Given the description of an element on the screen output the (x, y) to click on. 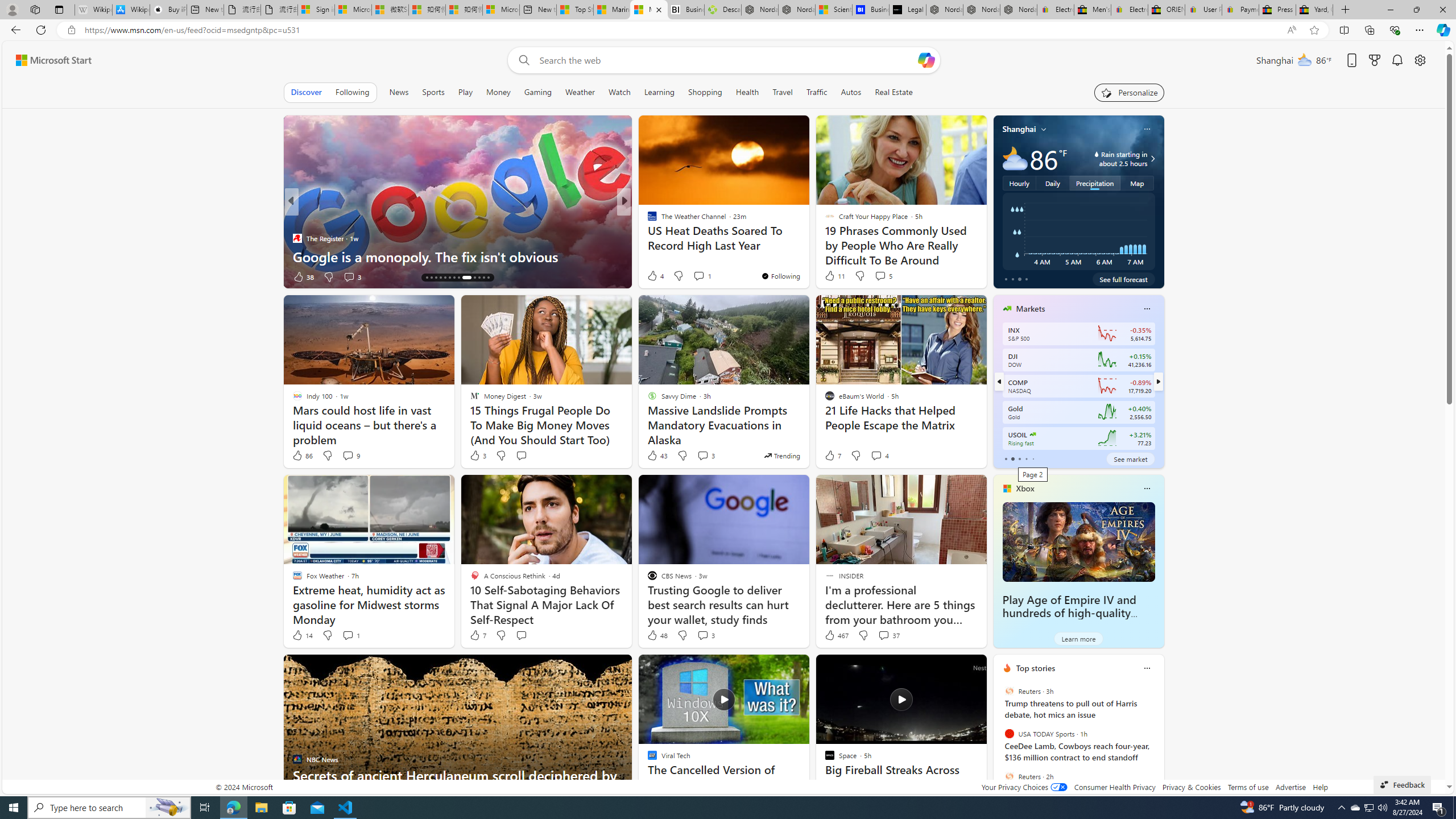
Shanghai (1018, 128)
48 Like (657, 634)
View comments 339 Comment (6, 276)
Map (1137, 183)
Rain starting in about 2.5 hours (1150, 158)
tab-1 (1012, 458)
You're following MSNBC (253, 279)
